Given the description of an element on the screen output the (x, y) to click on. 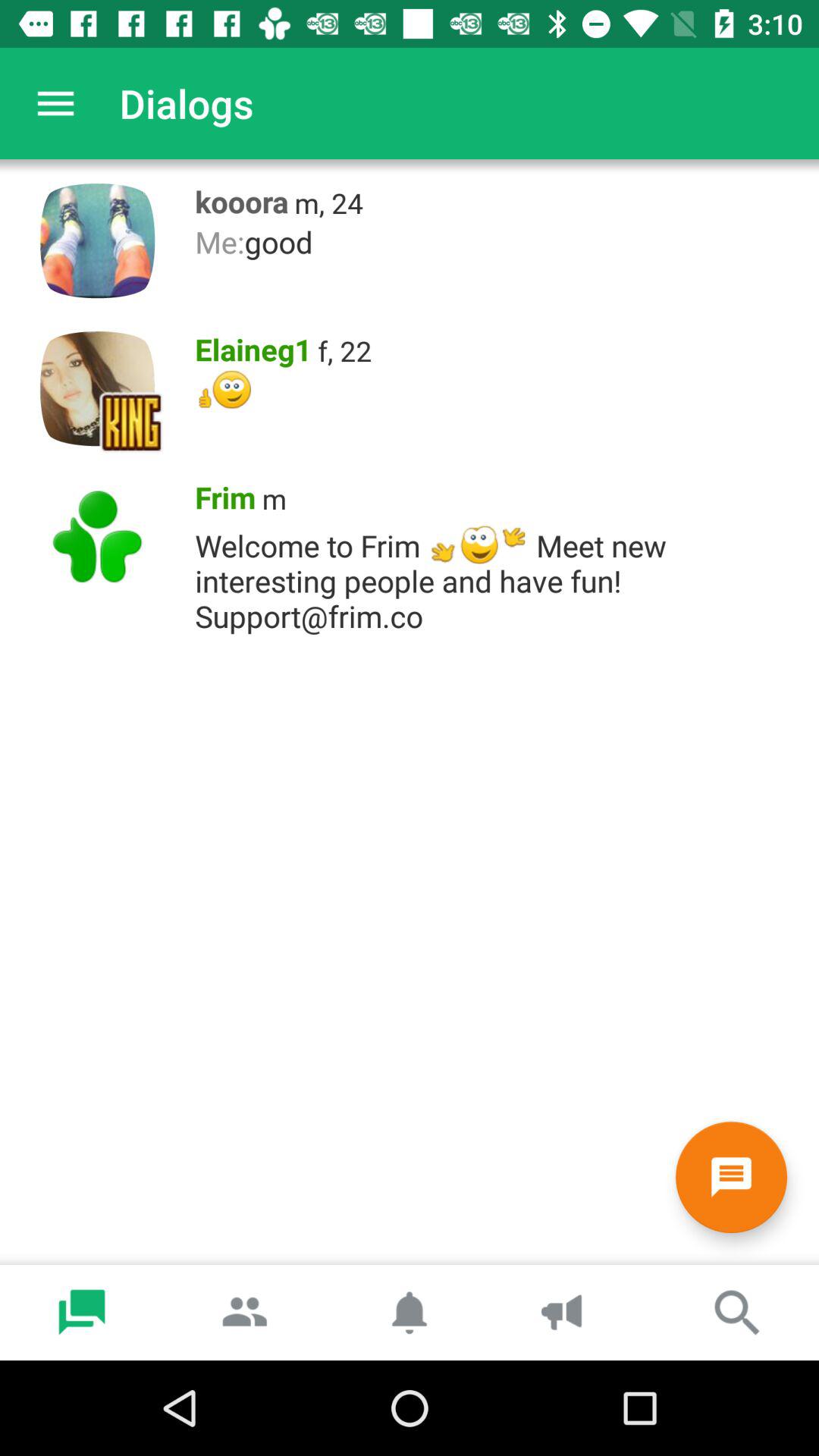
tap item below the welcome to frim (731, 1177)
